Given the description of an element on the screen output the (x, y) to click on. 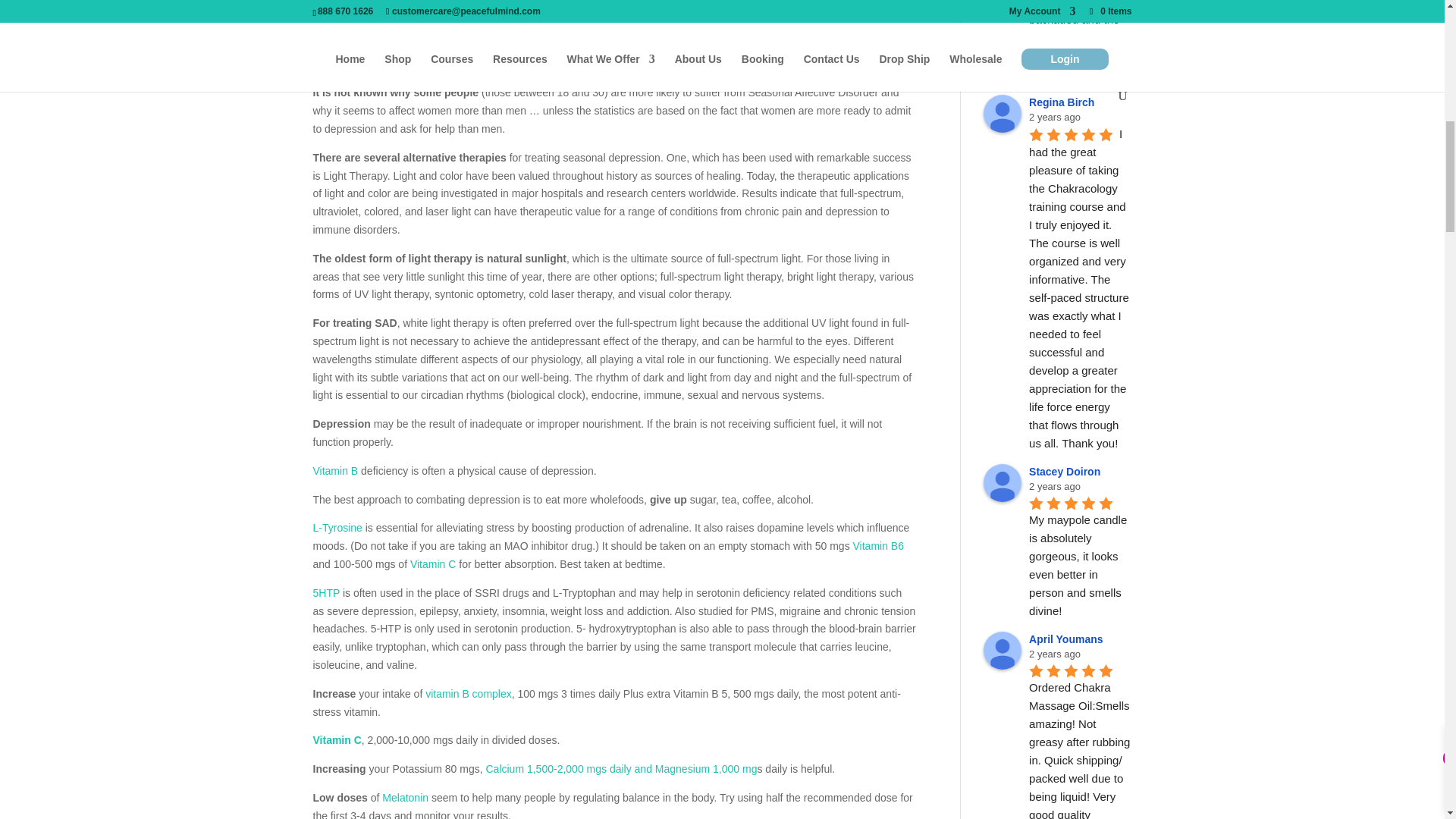
Regina Birch (1003, 113)
Stacey Doiron (1003, 483)
April Youmans (1003, 650)
